Given the description of an element on the screen output the (x, y) to click on. 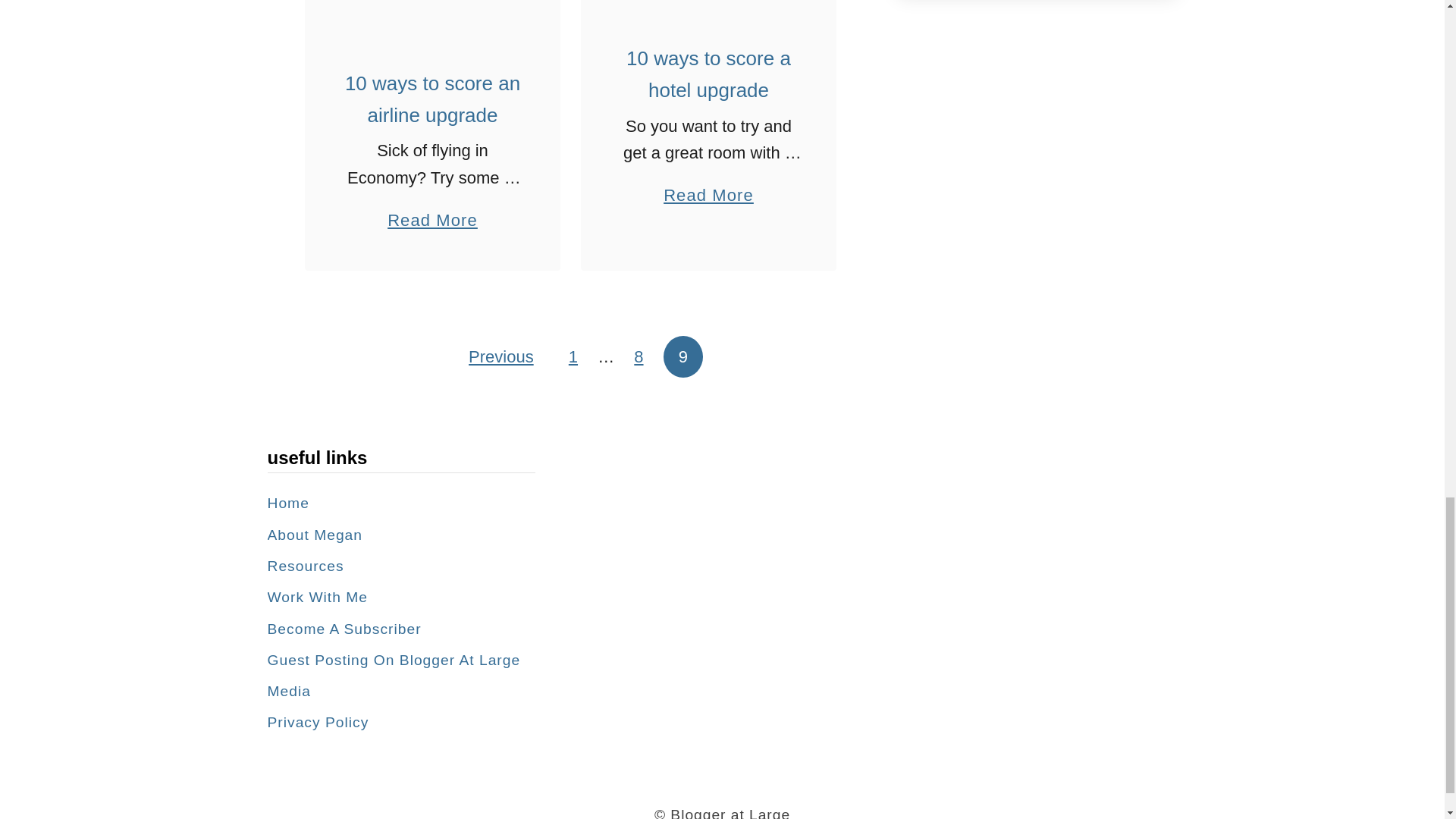
10 ways to score a hotel upgrade (708, 2)
10 ways to score an airline upgrade (432, 15)
